Given the description of an element on the screen output the (x, y) to click on. 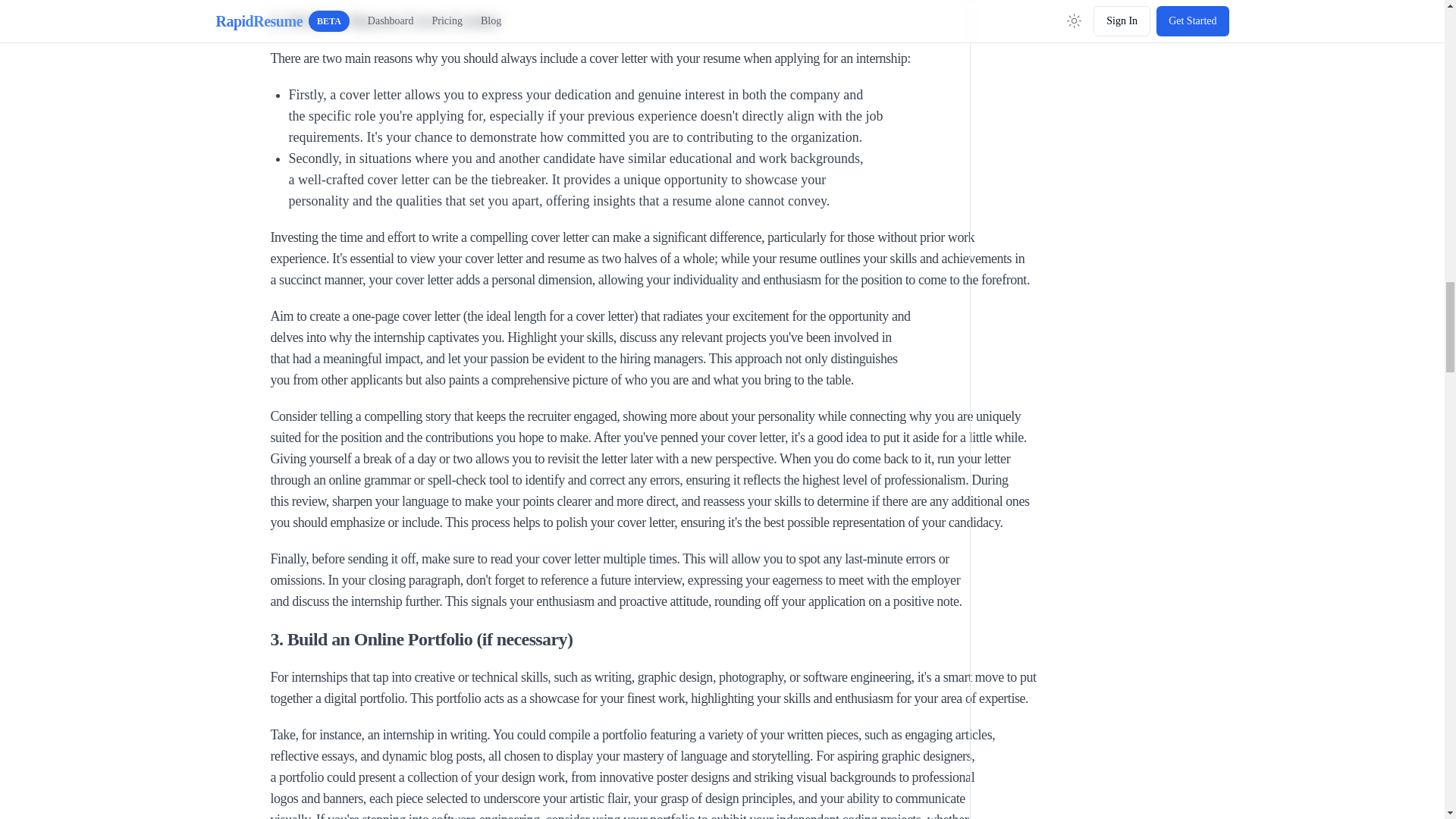
2. Write a Sincere Cover Letter (657, 20)
